Given the description of an element on the screen output the (x, y) to click on. 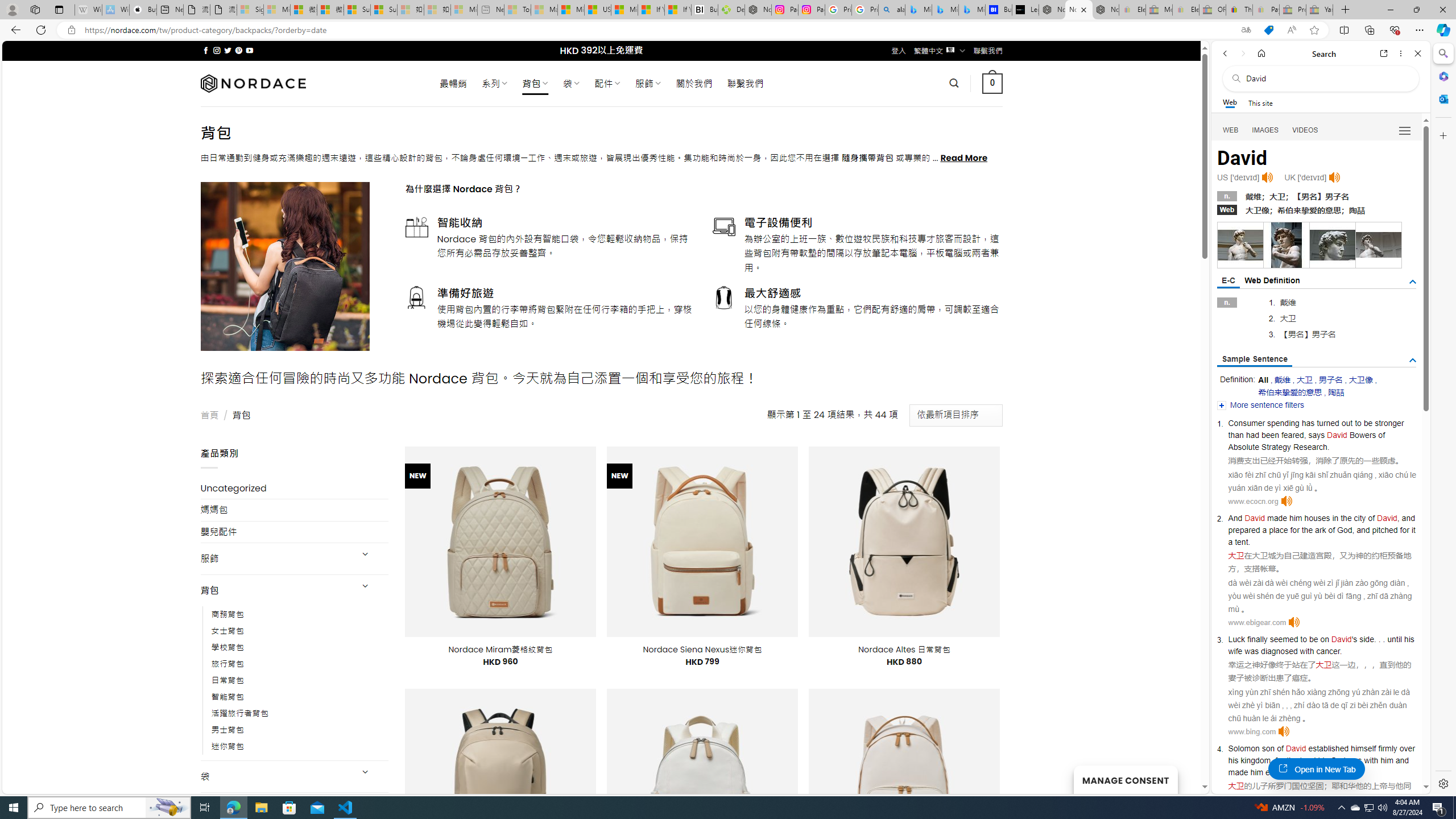
Outlook (1442, 98)
AutomationID: emb108120814 (1285, 244)
stronger (1388, 422)
to (1357, 422)
Follow on Facebook (205, 50)
Forward (1242, 53)
www.ebigear.com (1257, 622)
